Given the description of an element on the screen output the (x, y) to click on. 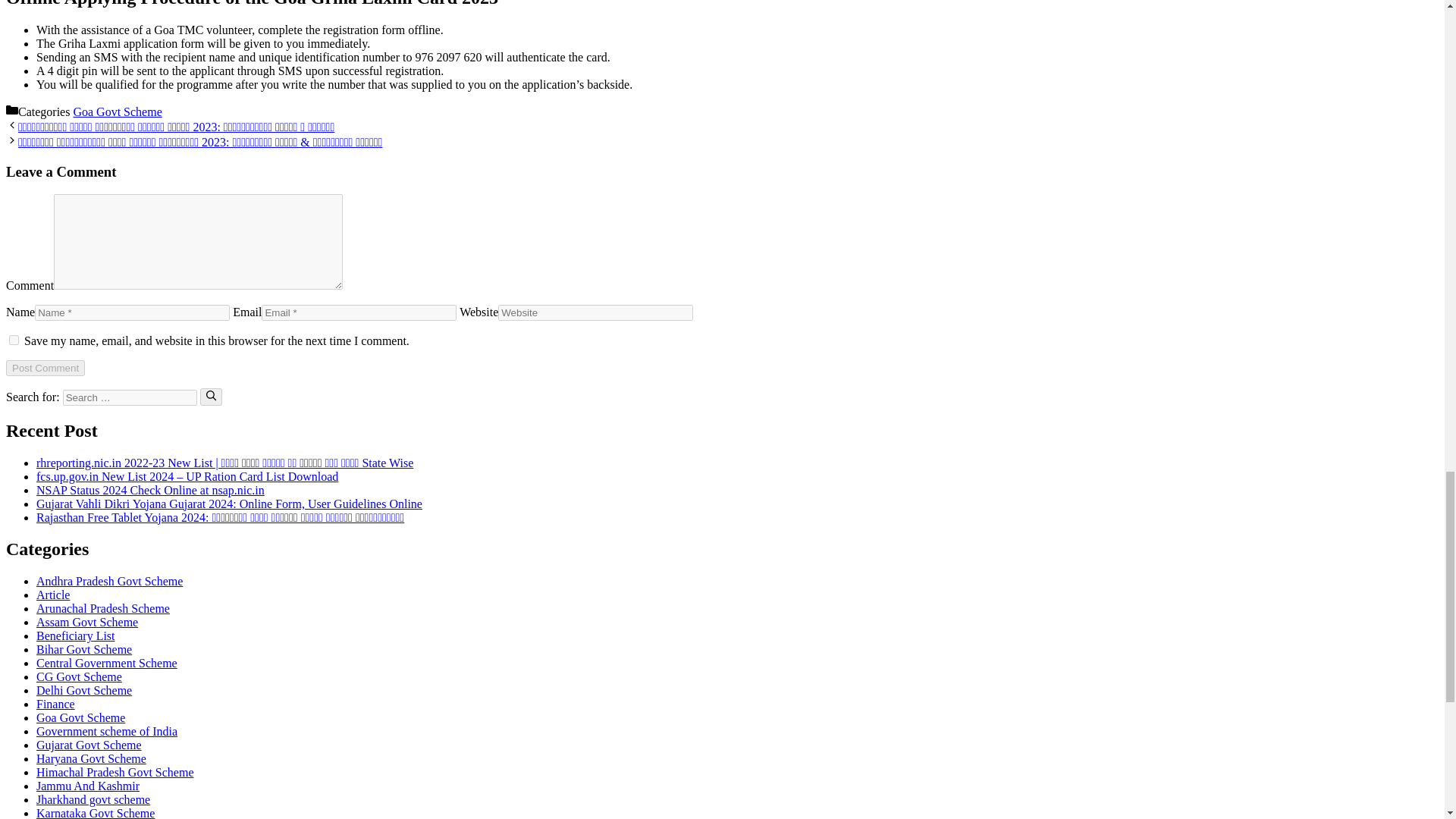
Post Comment (44, 367)
Andhra Pradesh Govt Scheme (109, 581)
Article (52, 594)
Arunachal Pradesh Scheme (103, 608)
NSAP Status 2024 Check Online at nsap.nic.in (150, 490)
Search for: (129, 397)
Goa Govt Scheme (116, 111)
Beneficiary List (75, 635)
yes (13, 339)
